Given the description of an element on the screen output the (x, y) to click on. 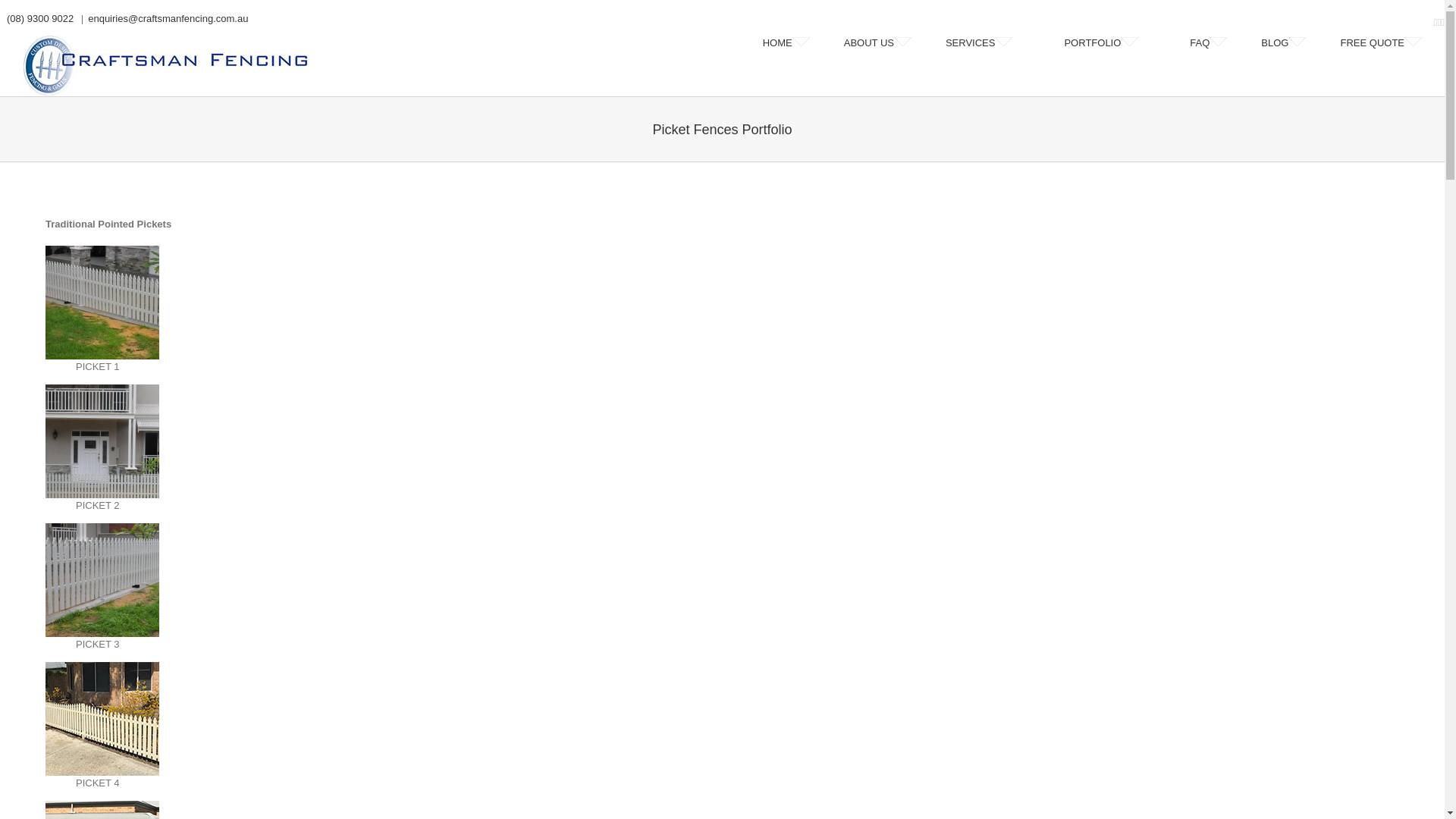
PICKET 4 Element type: hover (102, 668)
PICKET 5 Element type: hover (102, 807)
(08) 9300 9022 Element type: text (38, 18)
SERVICES Element type: text (987, 42)
Instagram Element type: text (1442, 22)
enquiries@craftsmanfencing.com.au Element type: text (167, 18)
FREE QUOTE Element type: text (1380, 42)
FAQ Element type: text (1207, 42)
PORTFOLIO Element type: text (1109, 42)
ABOUT US Element type: text (877, 42)
Twitter Element type: text (1439, 22)
BLOG Element type: text (1283, 42)
PICKET 3 Element type: hover (102, 530)
HOME Element type: text (785, 42)
PICKET 1 Element type: hover (102, 252)
Facebook Element type: text (1435, 22)
PICKET 2 Element type: hover (102, 391)
